Given the description of an element on the screen output the (x, y) to click on. 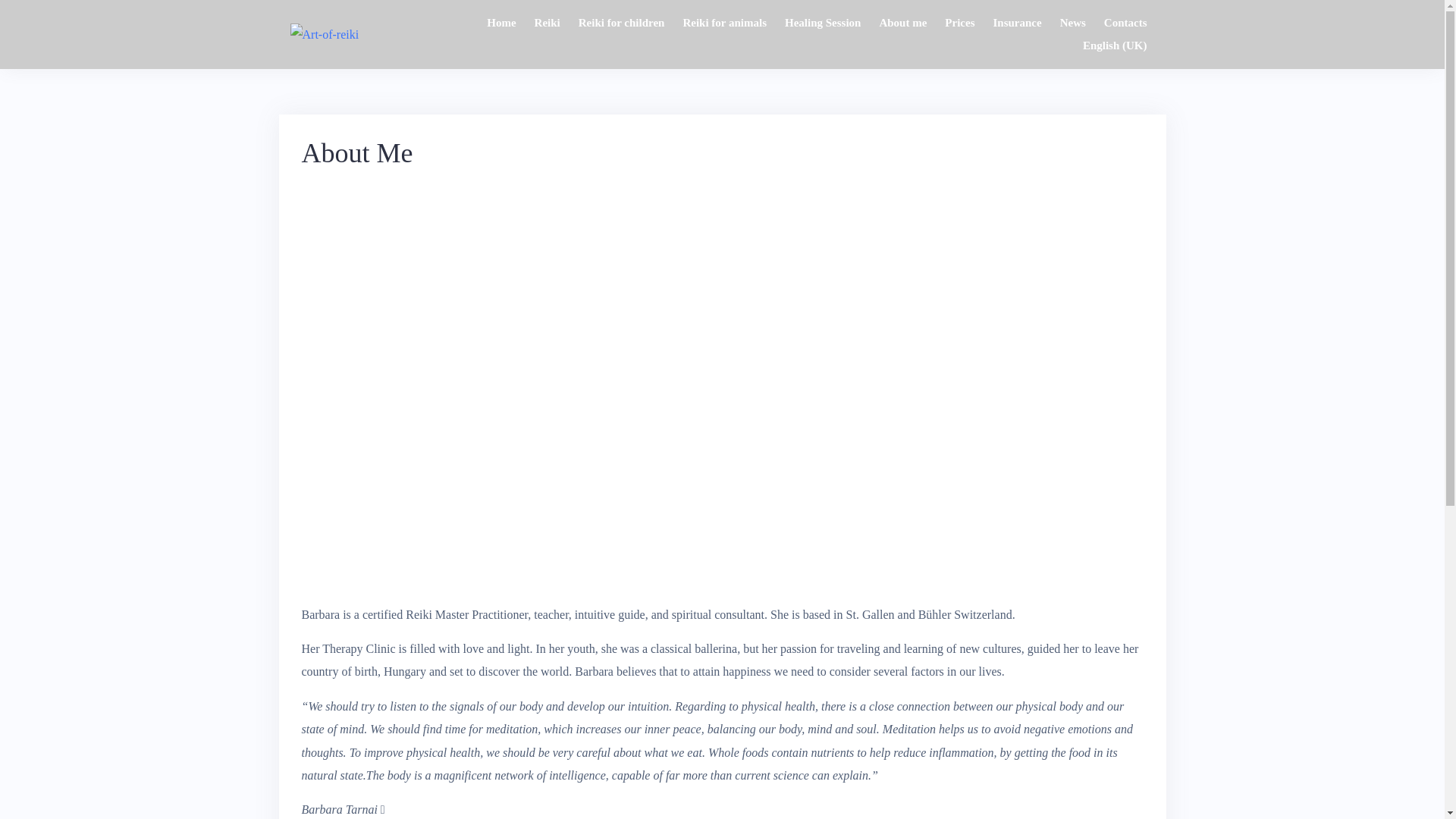
Insurance Element type: text (1016, 23)
Reiki for children Element type: text (621, 23)
Reiki Element type: text (547, 23)
Prices Element type: text (959, 23)
Healing Session Element type: text (822, 23)
About me Element type: text (902, 23)
Home Element type: text (500, 23)
Reiki for animals Element type: text (724, 23)
News Element type: text (1072, 23)
Contacts Element type: text (1125, 23)
English (UK) Element type: text (1114, 45)
